Given the description of an element on the screen output the (x, y) to click on. 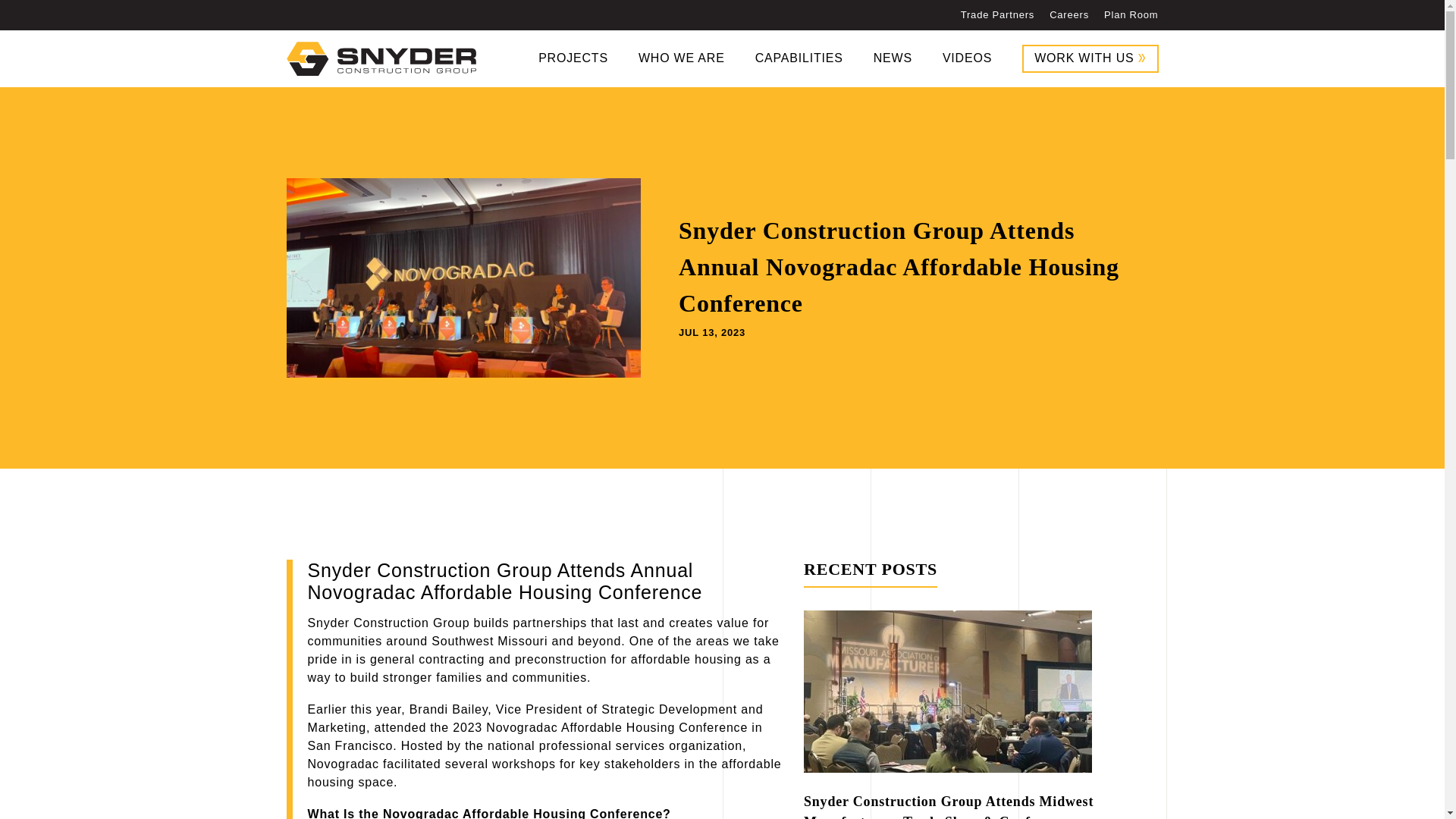
PROJECTS (573, 57)
NEWS (892, 57)
CAPABILITIES (799, 57)
affordable housing (685, 658)
WORK WITH US (1089, 58)
Plan Room (1130, 14)
Careers (1069, 14)
Brandi Bailey (448, 708)
VIDEOS (966, 57)
WHO WE ARE (682, 57)
Trade Partners (996, 14)
